Given the description of an element on the screen output the (x, y) to click on. 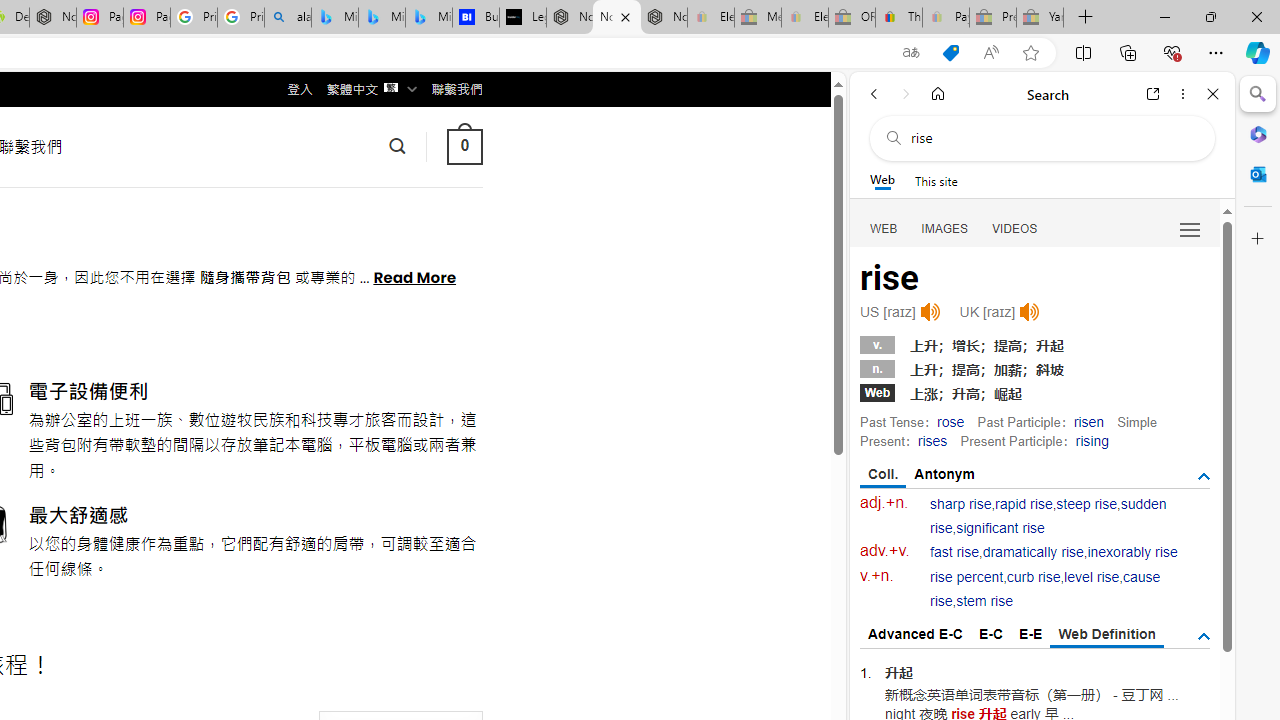
Press Room - eBay Inc. - Sleeping (993, 17)
steep rise (1086, 503)
Antonym (945, 473)
AutomationID: tgdef (1203, 636)
E-E (1030, 633)
rise percent (966, 577)
